Given the description of an element on the screen output the (x, y) to click on. 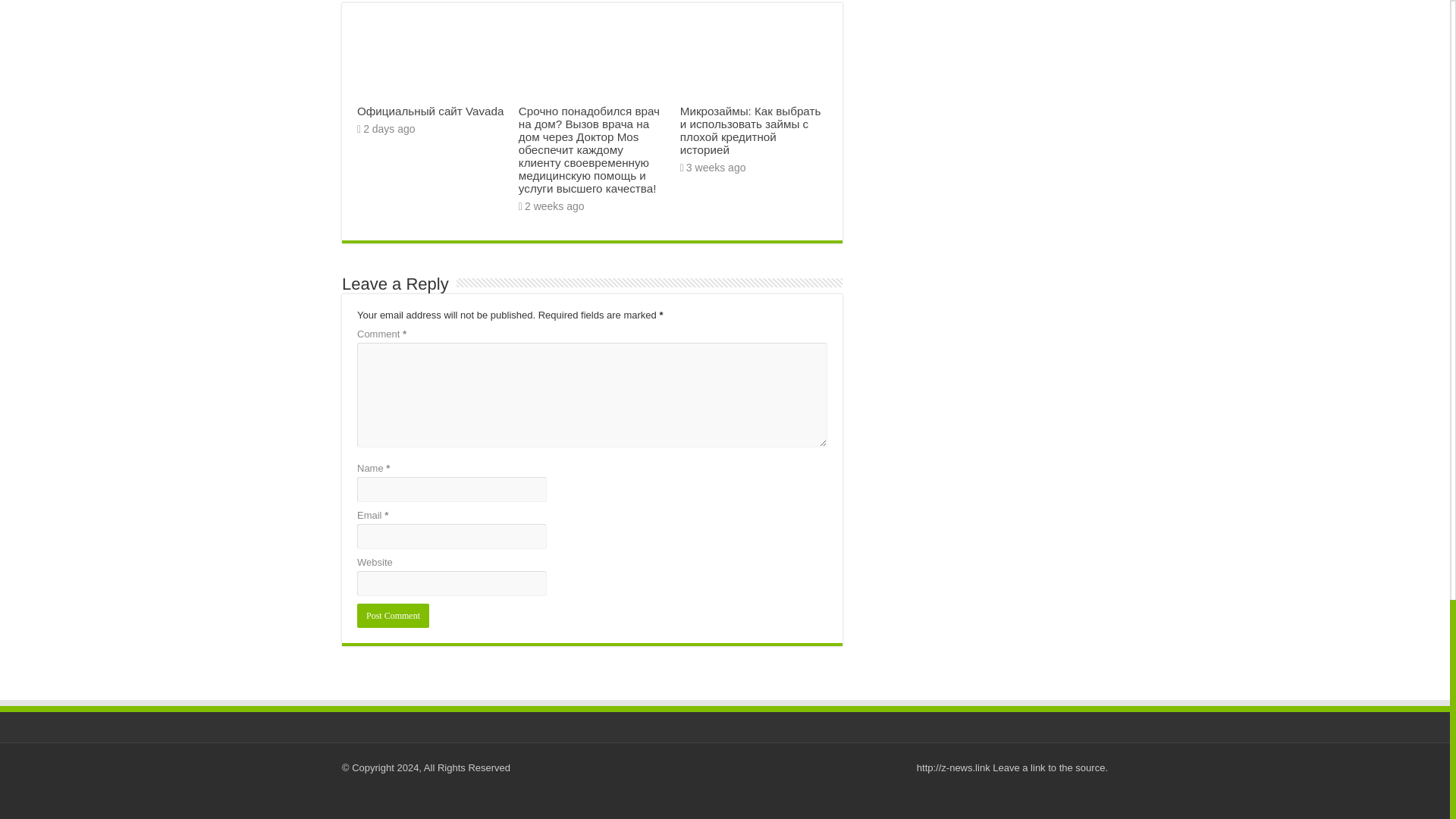
Post Comment (392, 615)
